Given the description of an element on the screen output the (x, y) to click on. 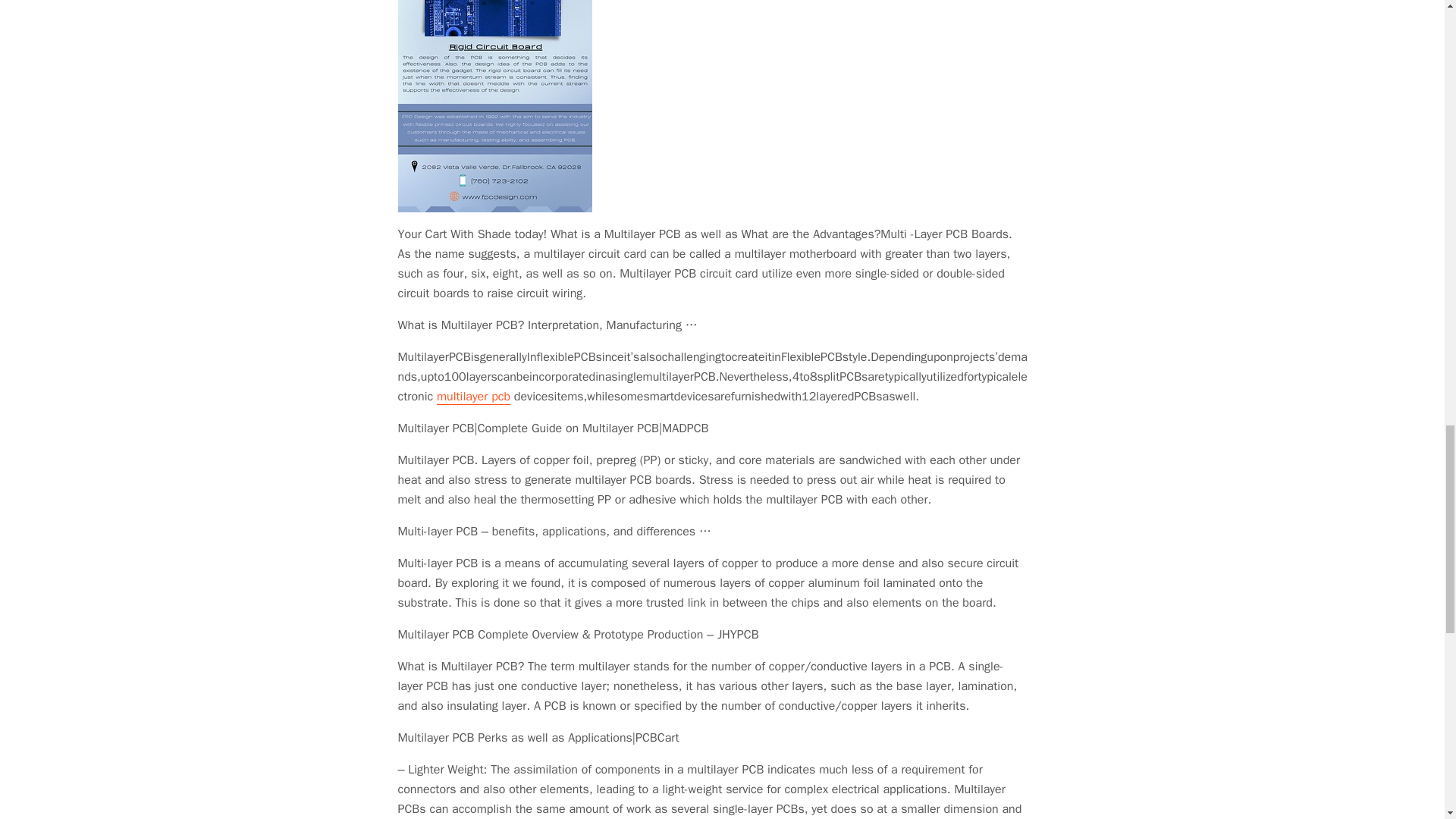
multilayer pcb (473, 396)
